Given the description of an element on the screen output the (x, y) to click on. 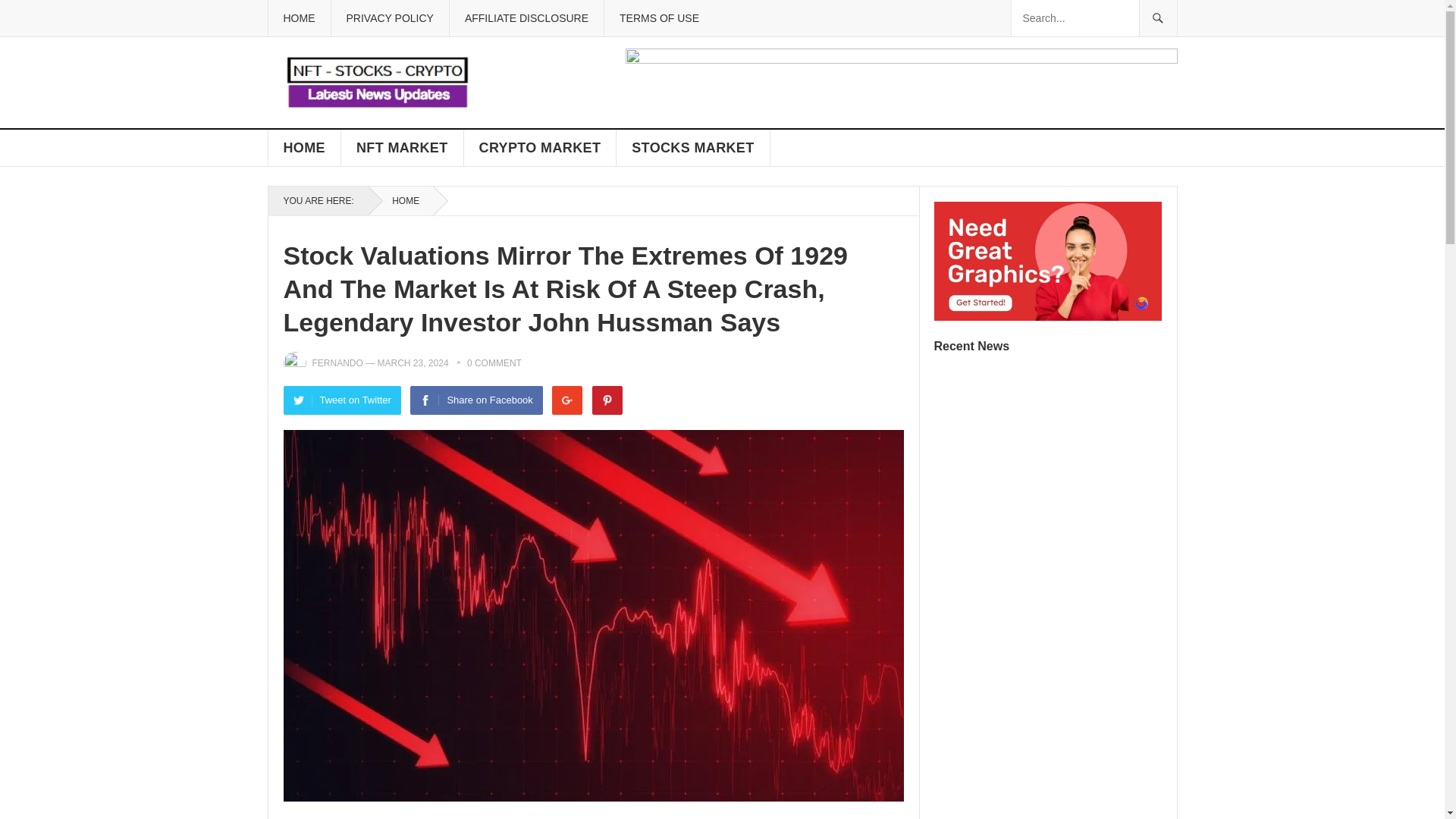
HOME (303, 147)
TERMS OF USE (659, 18)
Tweet on Twitter (342, 399)
Pinterest (607, 399)
NFT MARKET (402, 147)
0 COMMENT (494, 362)
STOCKS MARKET (692, 147)
Posts by Fernando (337, 362)
AFFILIATE DISCLOSURE (526, 18)
CRYPTO MARKET (540, 147)
